Given the description of an element on the screen output the (x, y) to click on. 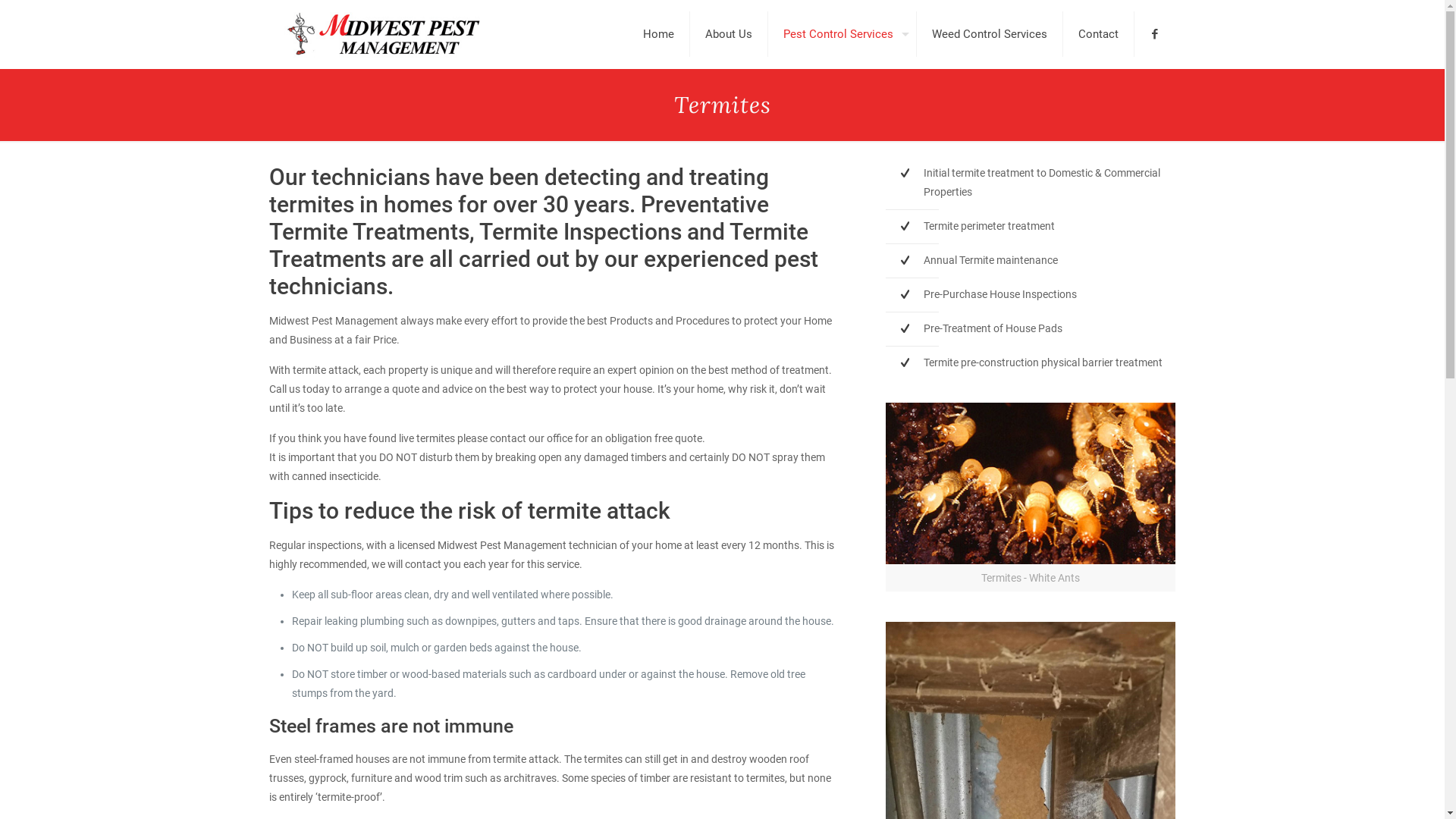
Midwest Pest Management Element type: hover (383, 34)
Pest Control Services Element type: text (841, 34)
About Us Element type: text (729, 34)
Home Element type: text (658, 34)
Contact Element type: text (1098, 34)
Weed Control Services Element type: text (989, 34)
